Given the description of an element on the screen output the (x, y) to click on. 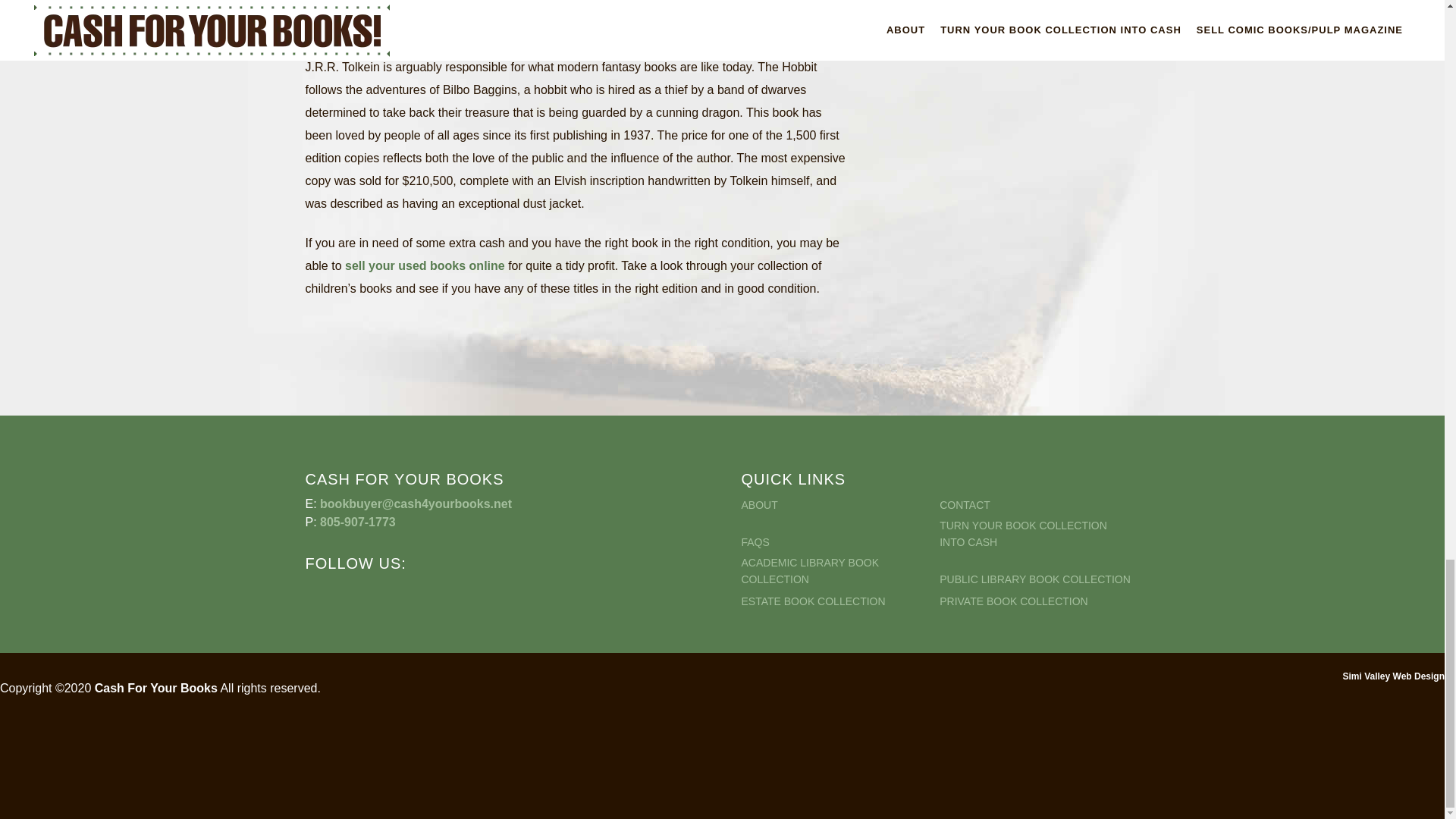
sell your used books online (425, 265)
805-907-1773 (358, 521)
CONTACT (1036, 504)
ABOUT (838, 504)
